Given the description of an element on the screen output the (x, y) to click on. 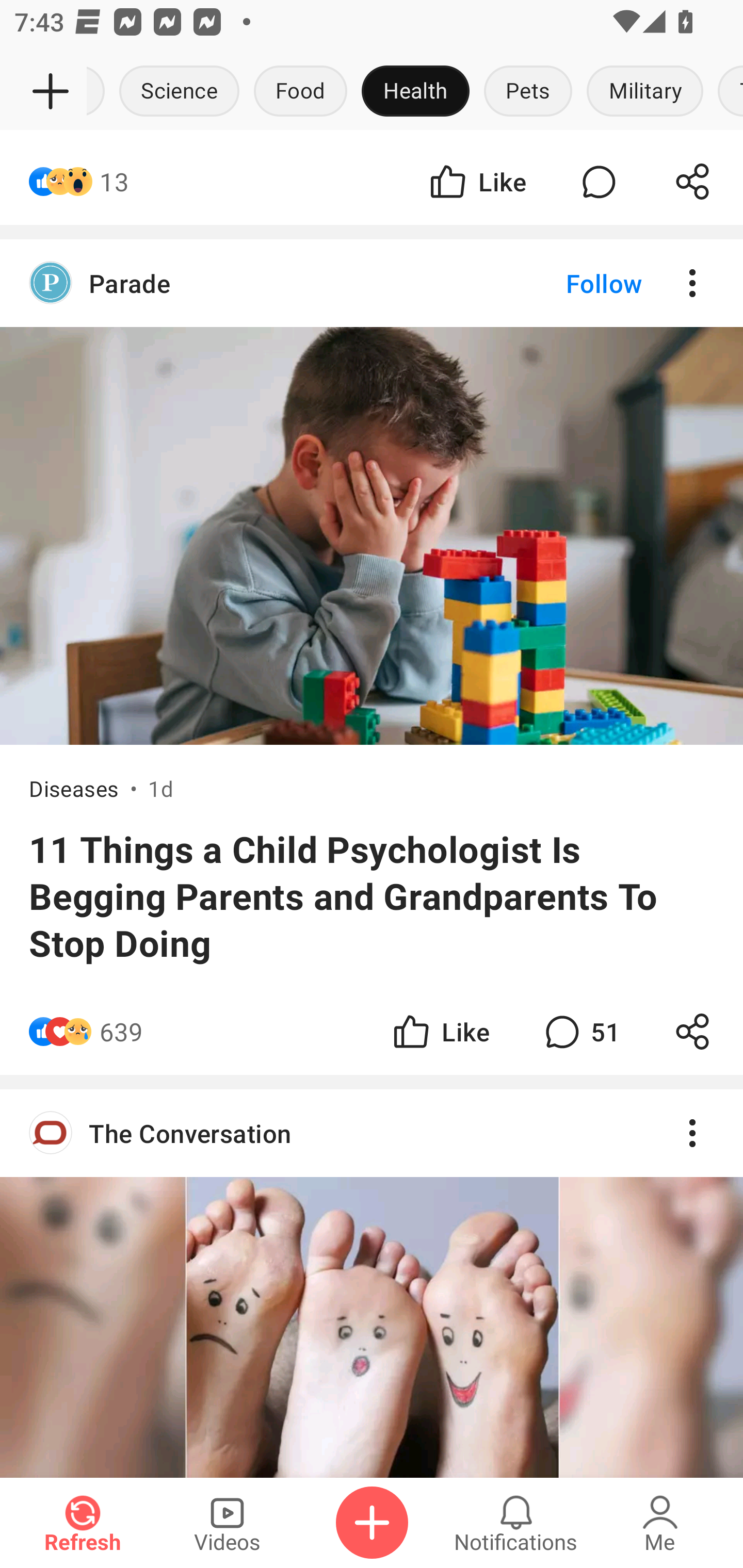
Science (179, 91)
Food (300, 91)
Health (415, 91)
Pets (528, 91)
Military (644, 91)
13 (114, 180)
Like (476, 180)
Parade Follow (371, 283)
Follow (569, 283)
639 (121, 1031)
Like (439, 1031)
51 (579, 1031)
The Conversation (371, 1283)
The Conversation (371, 1133)
Videos (227, 1522)
Notifications (516, 1522)
Me (659, 1522)
